Given the description of an element on the screen output the (x, y) to click on. 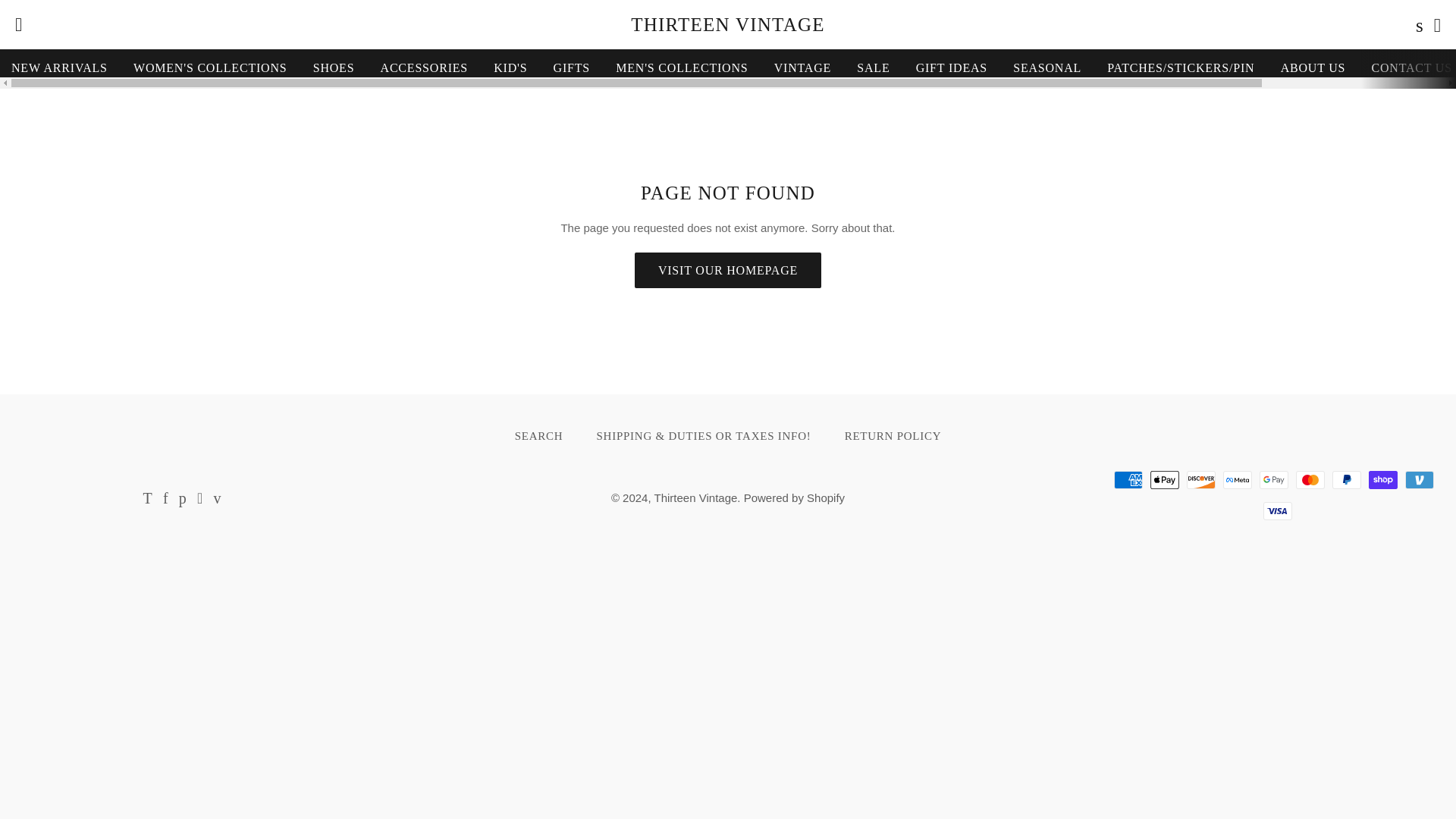
Thirteen Vintage on Facebook (165, 499)
American Express (1127, 479)
Venmo (1419, 479)
Apple Pay (1164, 479)
Discover (1200, 479)
Mastercard (1309, 479)
Thirteen Vintage on Instagram (199, 499)
Visa (1277, 511)
Meta Pay (1237, 479)
Thirteen Vintage on Vimeo (216, 499)
Thirteen Vintage on Twitter (147, 499)
Shop Pay (1382, 479)
Thirteen Vintage on Pinterest (182, 499)
PayPal (1346, 479)
Google Pay (1273, 479)
